Given the description of an element on the screen output the (x, y) to click on. 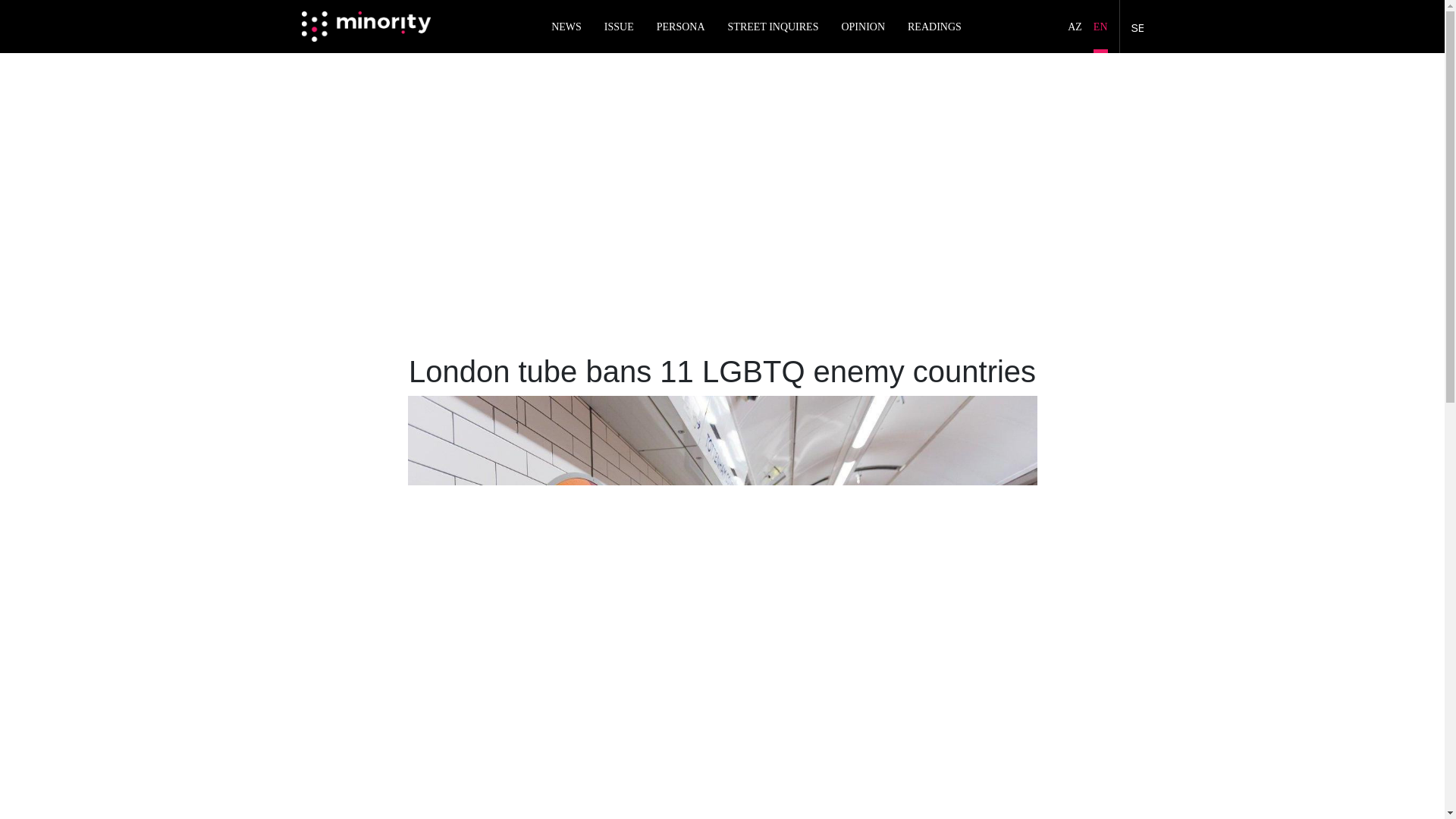
Street Inquires (773, 26)
READINGS (933, 26)
Persona (680, 26)
Readings (933, 26)
PERSONA (680, 26)
STREET INQUIRES (773, 26)
